Given the description of an element on the screen output the (x, y) to click on. 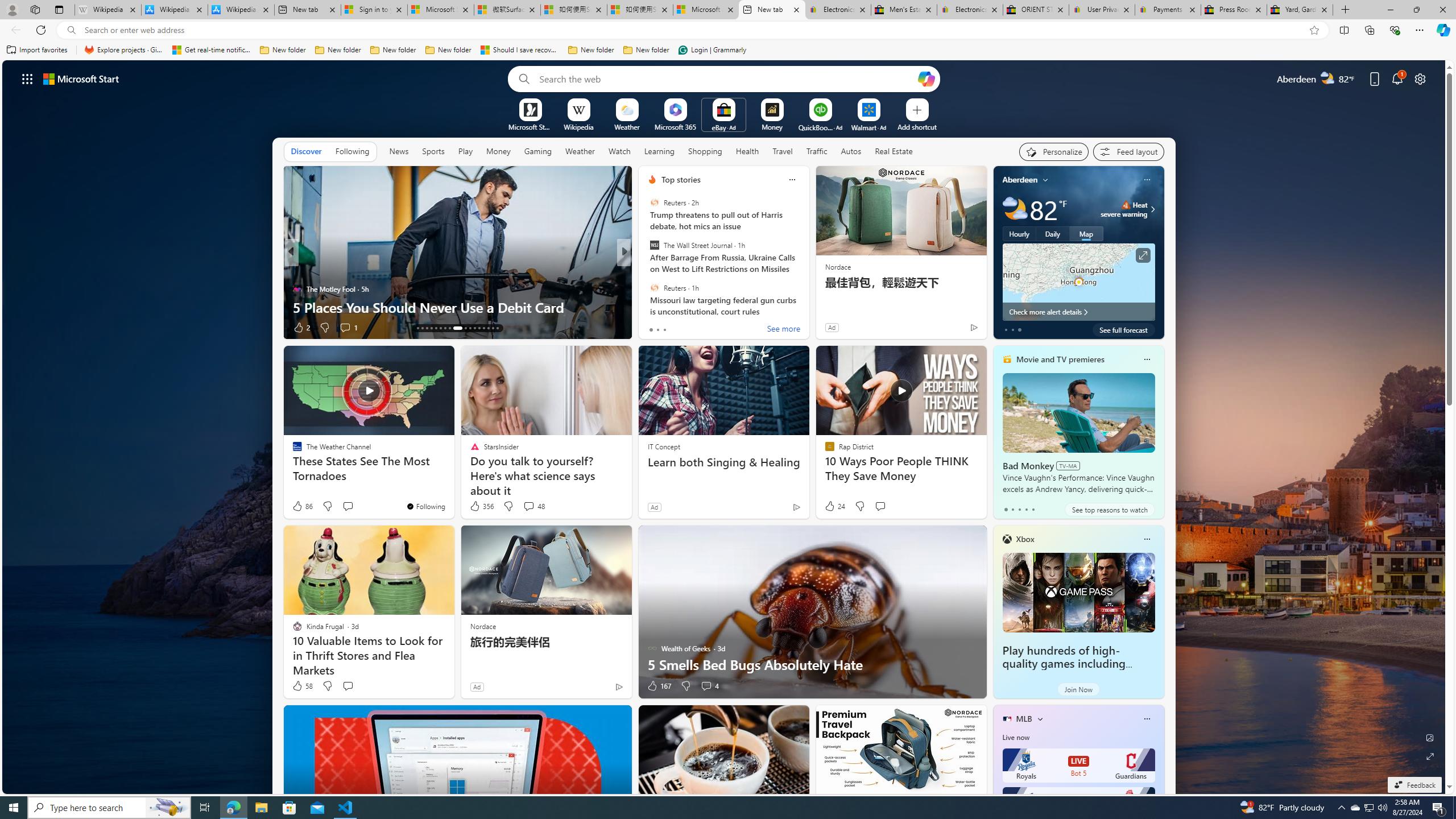
Nordace (483, 625)
Shopping (705, 151)
AutomationID: tab-23 (470, 328)
Payments Terms of Use | eBay.com (1167, 9)
Sports (432, 151)
Import favorites (36, 49)
More Options (886, 101)
The Wall Street Journal (654, 245)
20 Like (652, 327)
AutomationID: tab-29 (497, 328)
